Given the description of an element on the screen output the (x, y) to click on. 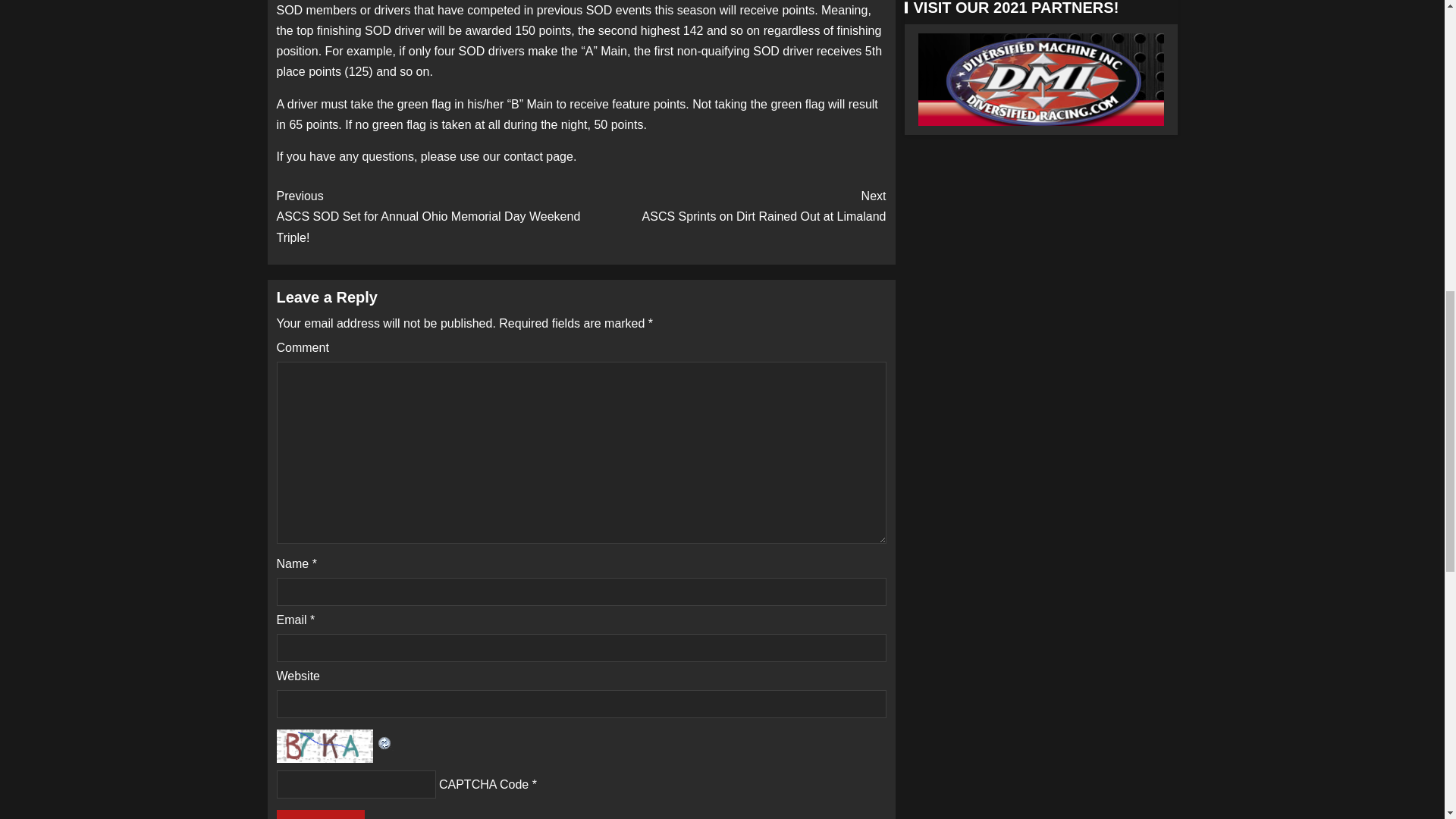
CAPTCHA (325, 745)
Post Comment (320, 814)
Refresh (732, 205)
